Given the description of an element on the screen output the (x, y) to click on. 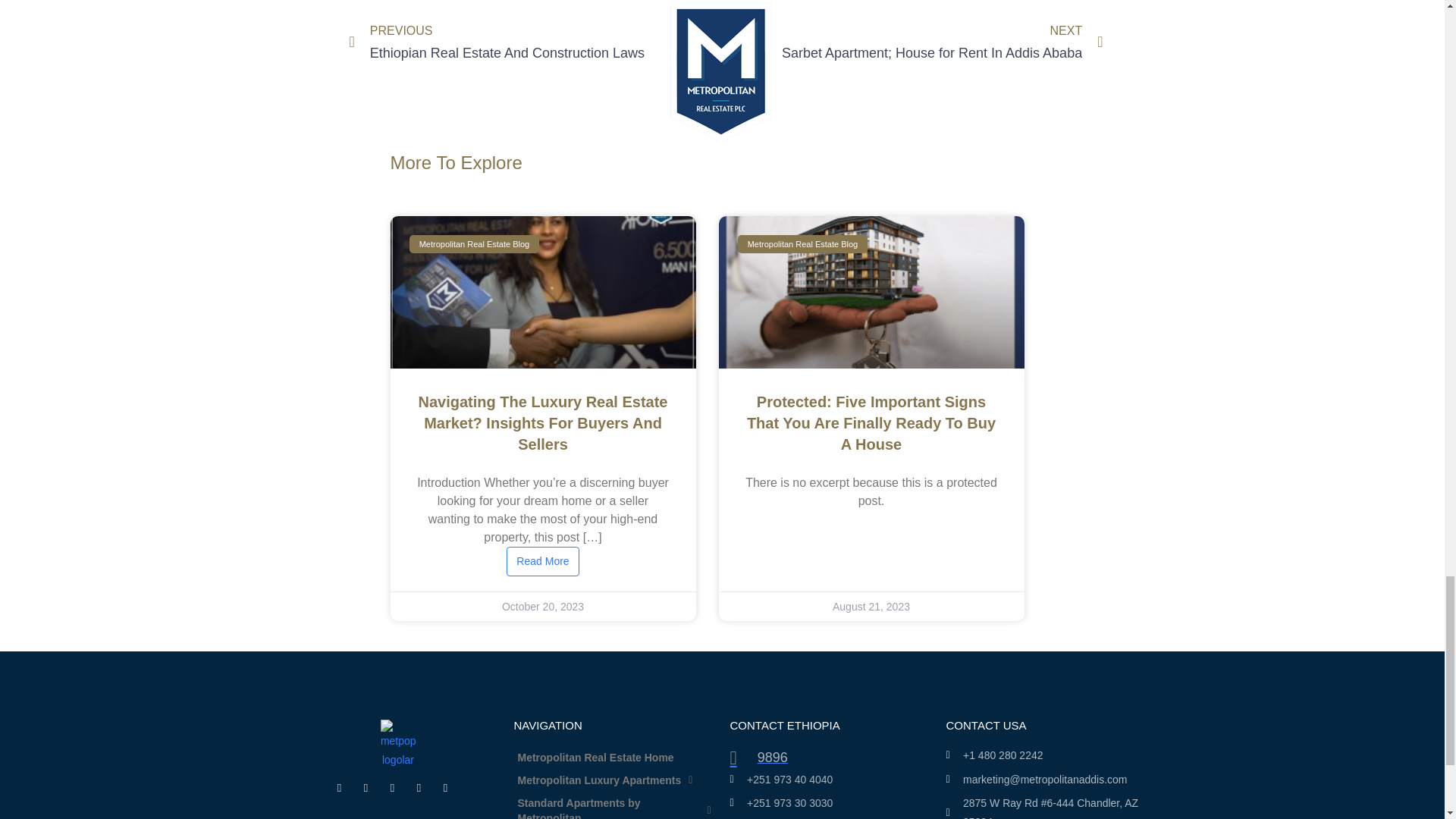
Metropolitan Real Estate Home (613, 757)
Metropolitan Luxury Apartments (914, 43)
Read More (613, 780)
